Given the description of an element on the screen output the (x, y) to click on. 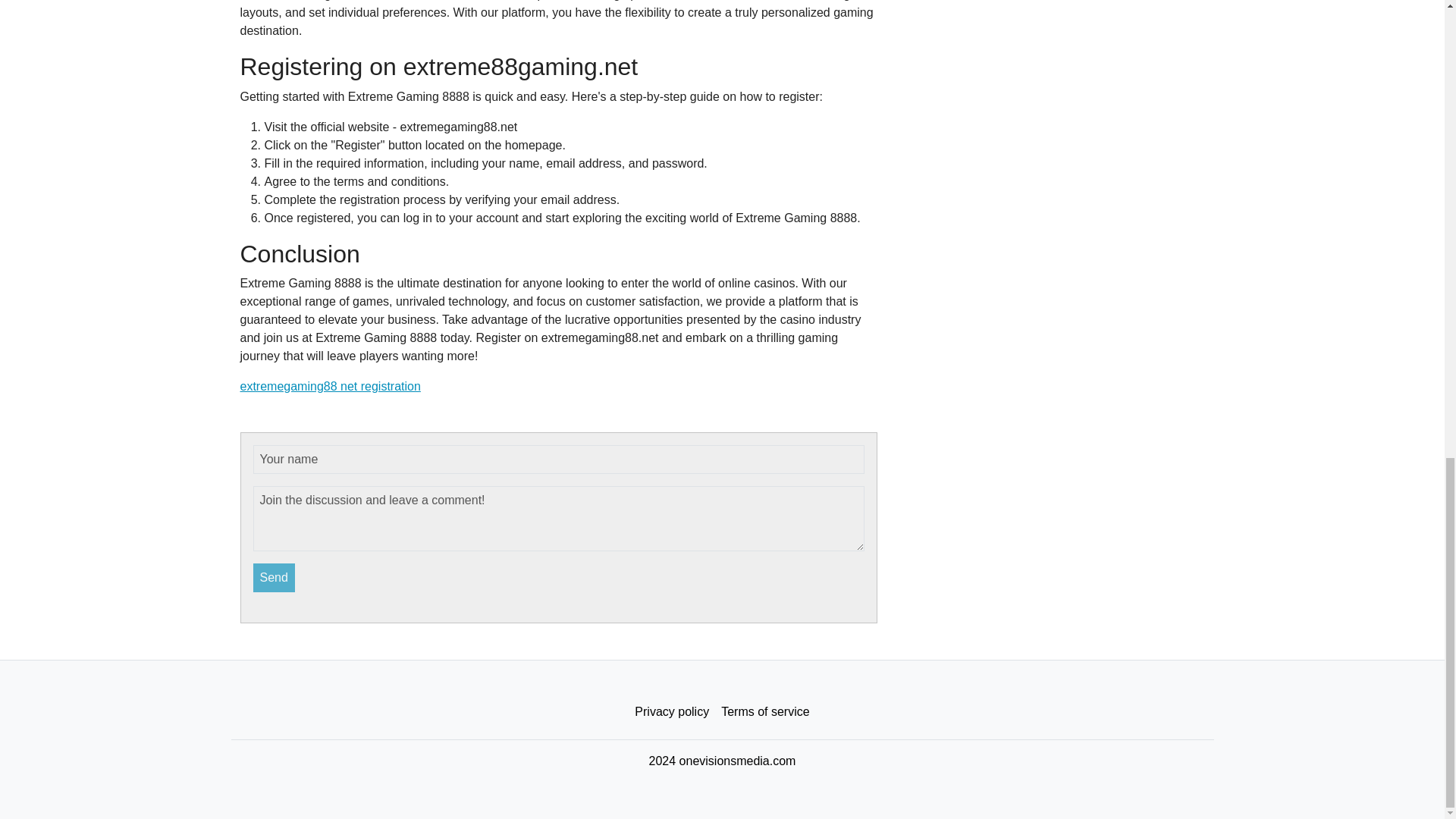
Send (274, 577)
extremegaming88 net registration (330, 386)
Privacy policy (671, 711)
Send (274, 577)
Terms of service (764, 711)
